Given the description of an element on the screen output the (x, y) to click on. 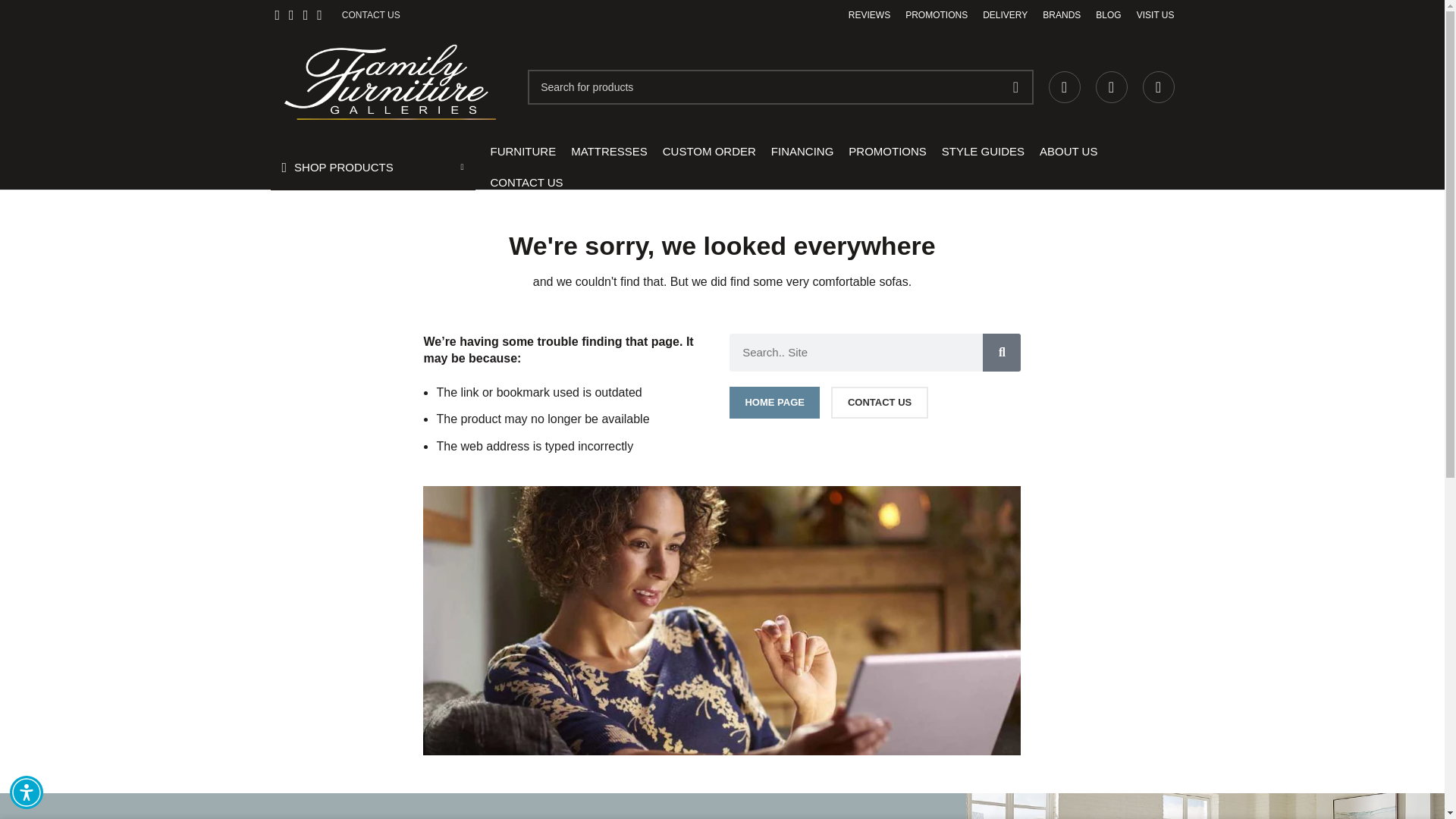
REVIEWS (868, 15)
My Wishlist (1110, 87)
DELIVERY (1004, 15)
Log in (954, 336)
Accessibility Menu (26, 792)
BRANDS (1061, 15)
BLOG (1108, 15)
SEARCH (1014, 86)
Compare products (1157, 87)
My account (1064, 87)
Search for products (779, 86)
CONTACT US (371, 14)
VISIT US (1155, 15)
